Given the description of an element on the screen output the (x, y) to click on. 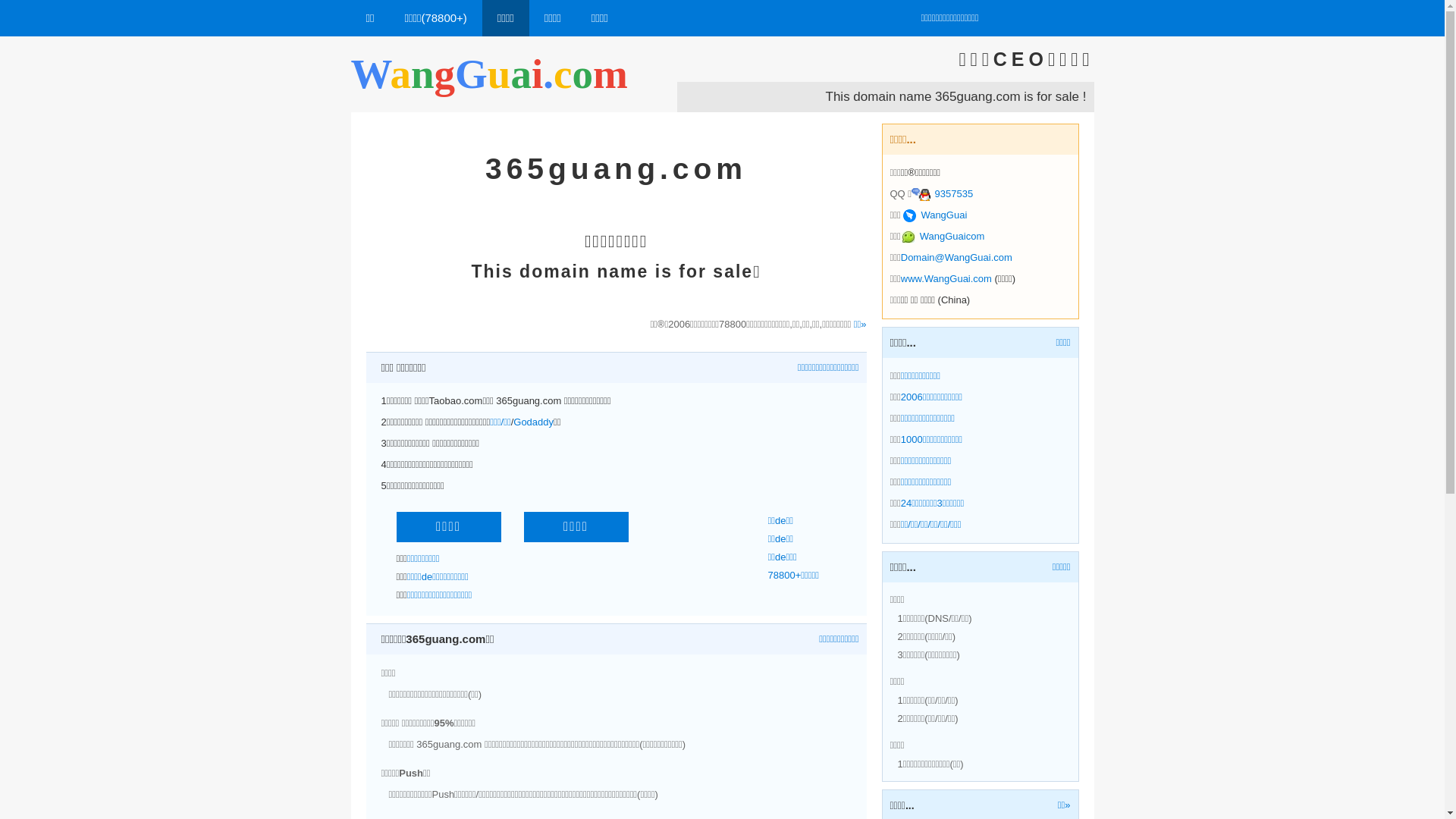
Godaddy Element type: text (533, 421)
9357535 Element type: text (941, 193)
Domain@WangGuai.com Element type: text (956, 257)
WangGuaicom Element type: text (942, 235)
www.WangGuai.com Element type: text (945, 278)
WangGuai Element type: text (934, 214)
